Given the description of an element on the screen output the (x, y) to click on. 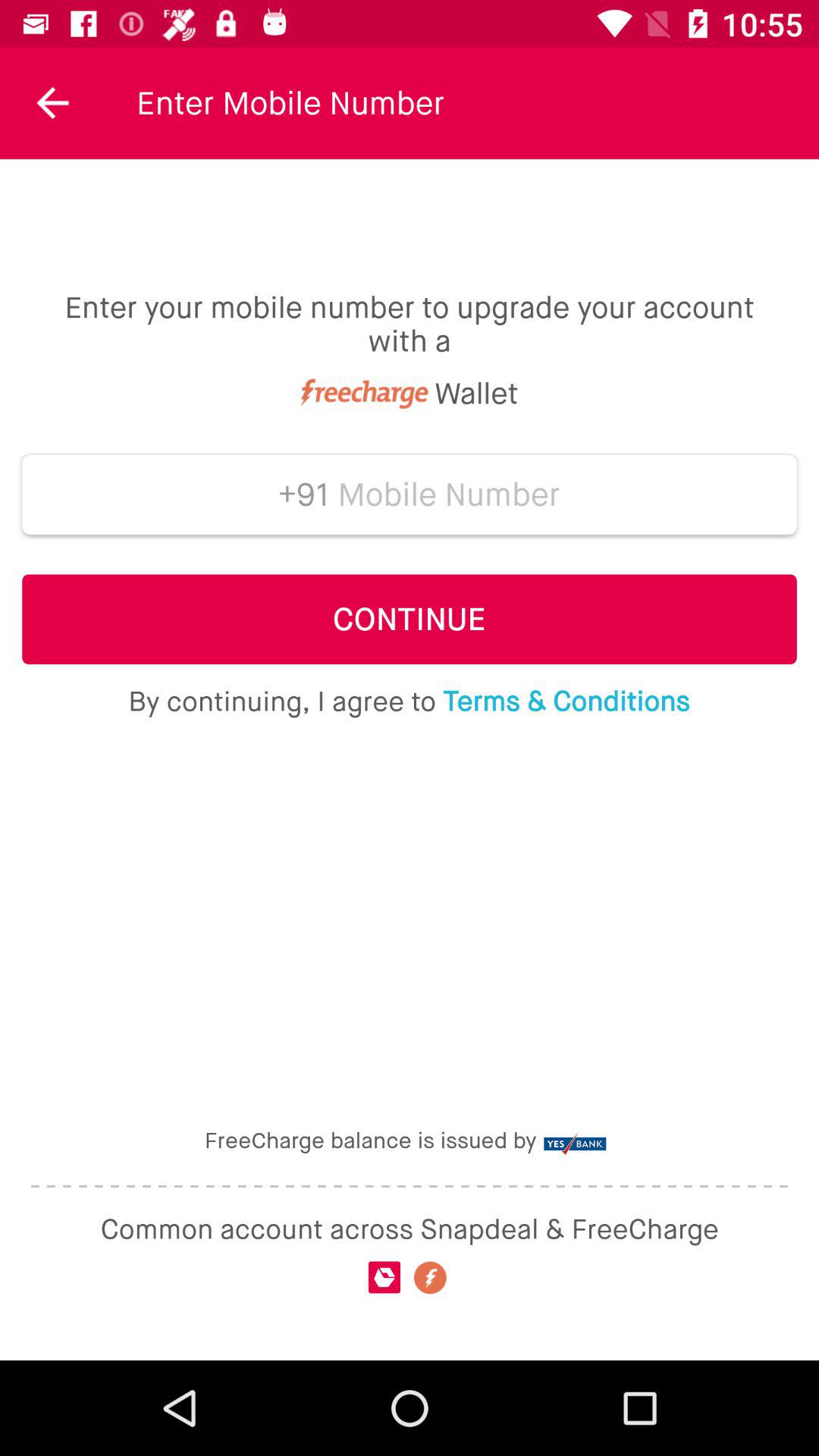
click the icon next to enter mobile number (52, 102)
